Given the description of an element on the screen output the (x, y) to click on. 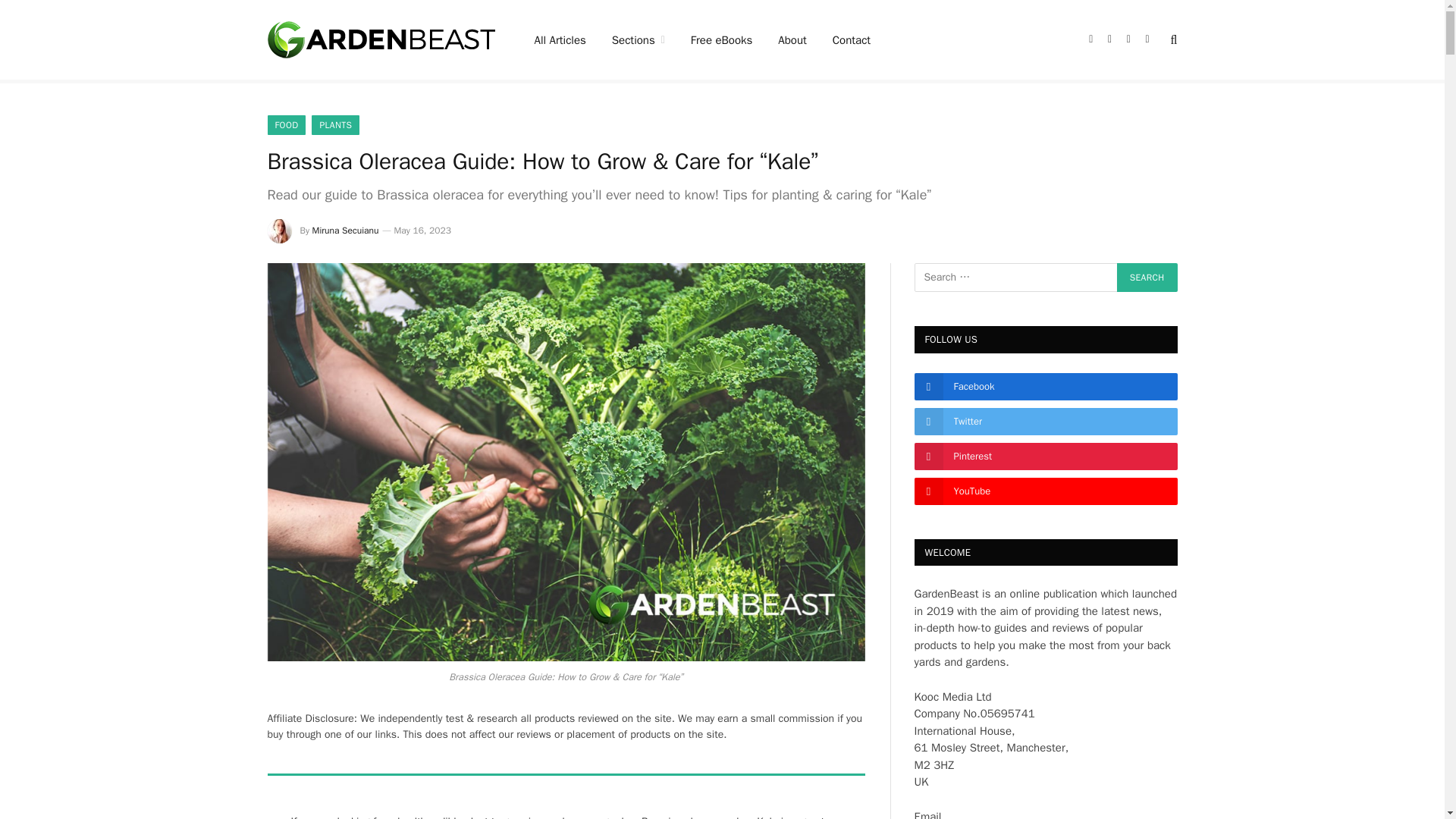
Search (1146, 276)
FOOD (285, 125)
GardenBeast (380, 39)
Posts by Miruna Secuianu (345, 230)
All Articles (559, 39)
Free eBooks (721, 39)
Miruna Secuianu (345, 230)
Search (1146, 276)
PLANTS (335, 125)
Sections (638, 39)
